Given the description of an element on the screen output the (x, y) to click on. 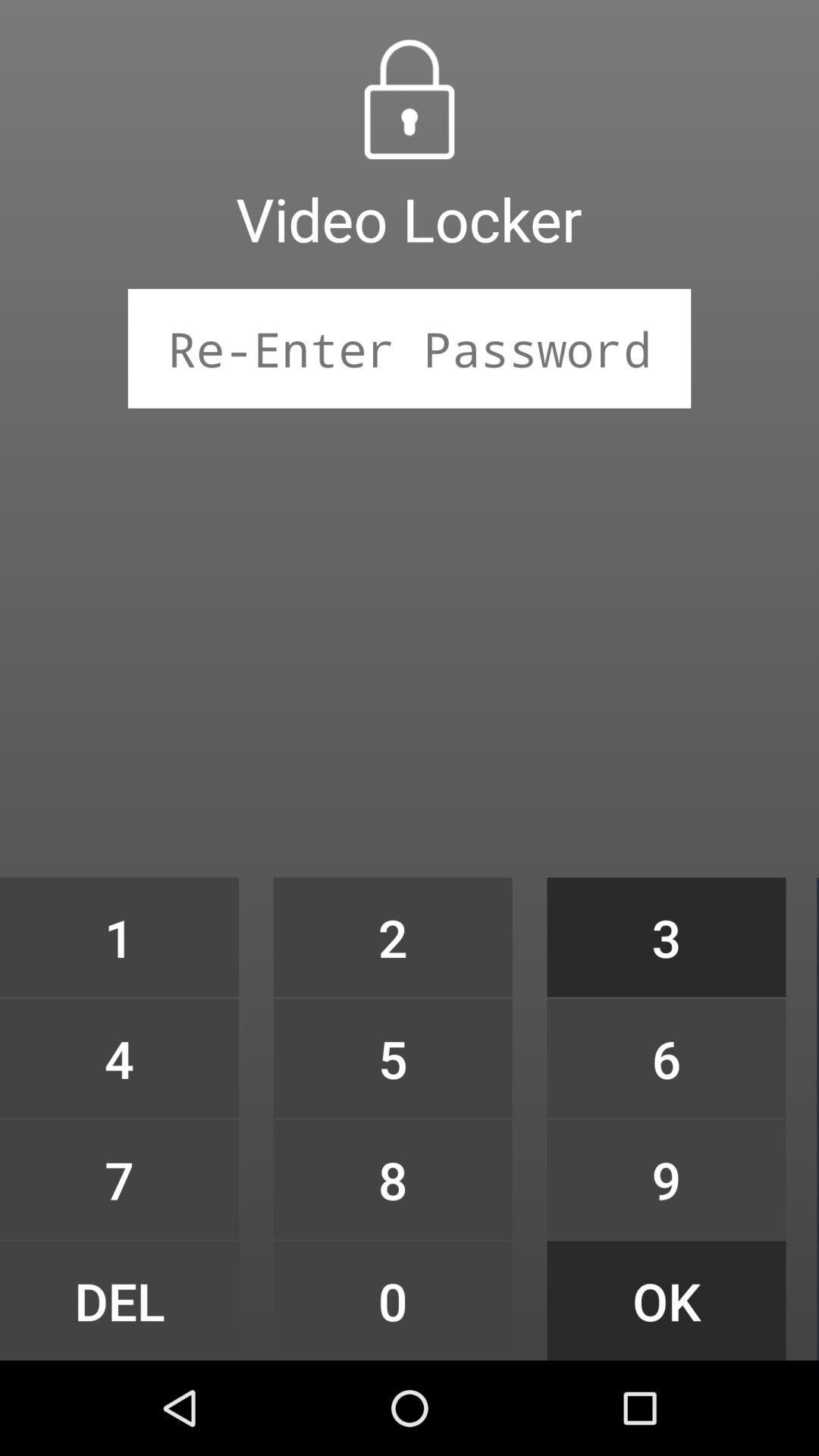
select the icon to the left of 2 icon (119, 1058)
